Given the description of an element on the screen output the (x, y) to click on. 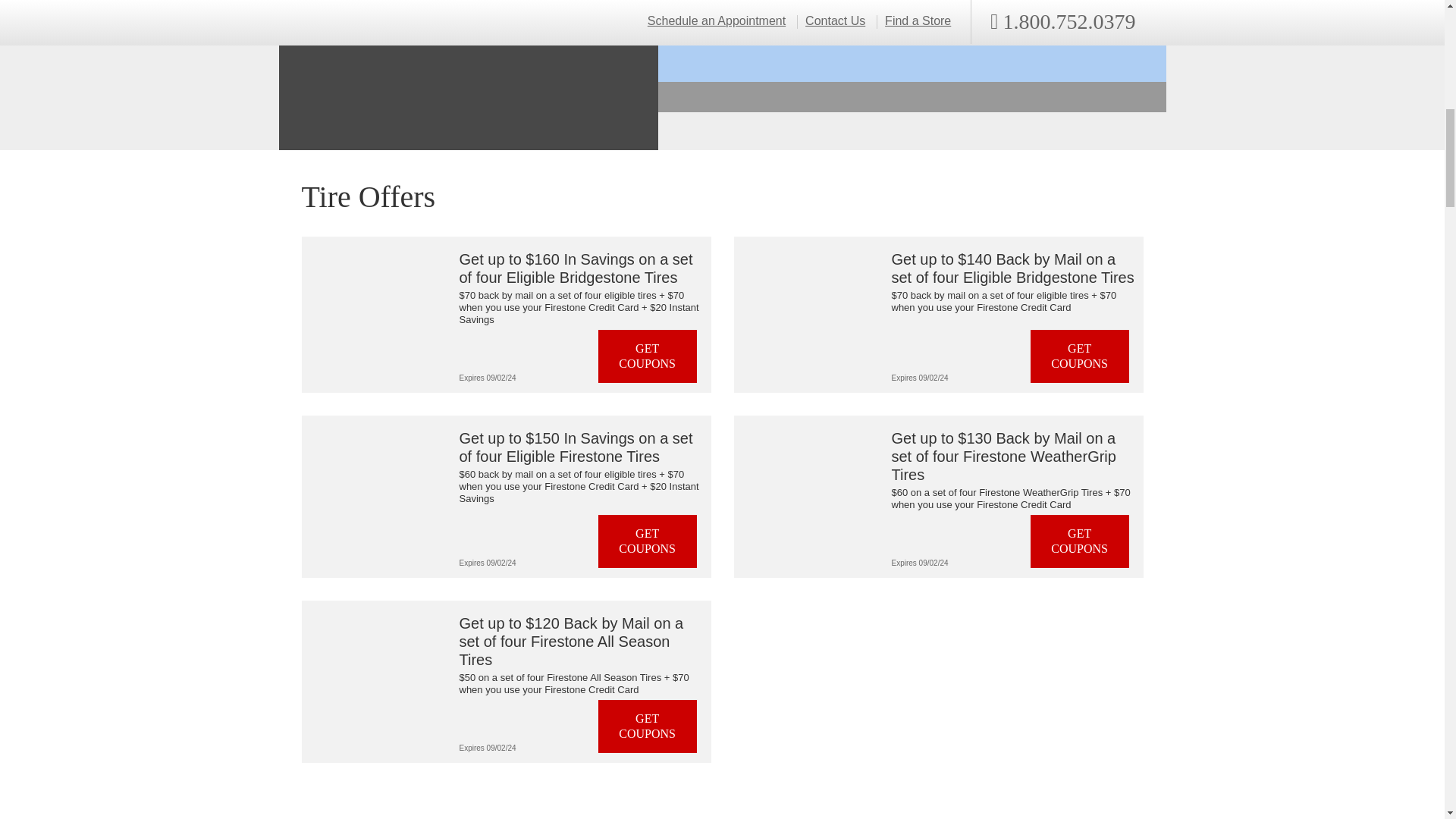
GET COUPONS (647, 541)
GET COUPONS (647, 356)
GET COUPONS (1079, 356)
